Given the description of an element on the screen output the (x, y) to click on. 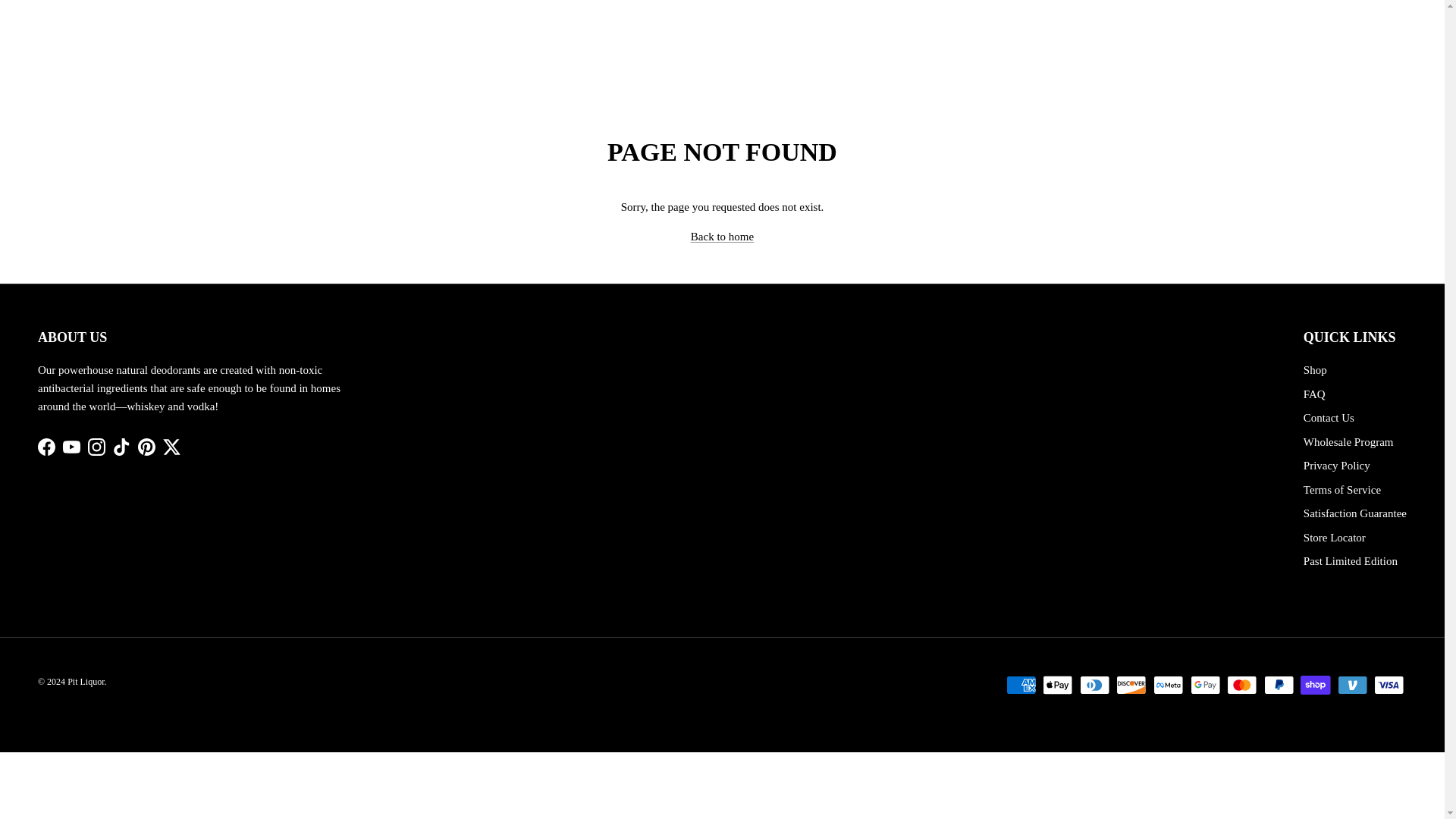
American Express (1021, 684)
Venmo (1352, 684)
Visa (1388, 684)
Pit Liquor on YouTube (71, 446)
Pit Liquor on Pinterest (146, 446)
Shop Pay (1315, 684)
Google Pay (1205, 684)
PayPal (1278, 684)
Facebook (46, 446)
Pit Liquor on Instagram (95, 446)
Meta Pay (1168, 684)
Pit Liquor on Twitter (171, 446)
Diners Club (1094, 684)
Discover (1130, 684)
Back to home (722, 236)
